Given the description of an element on the screen output the (x, y) to click on. 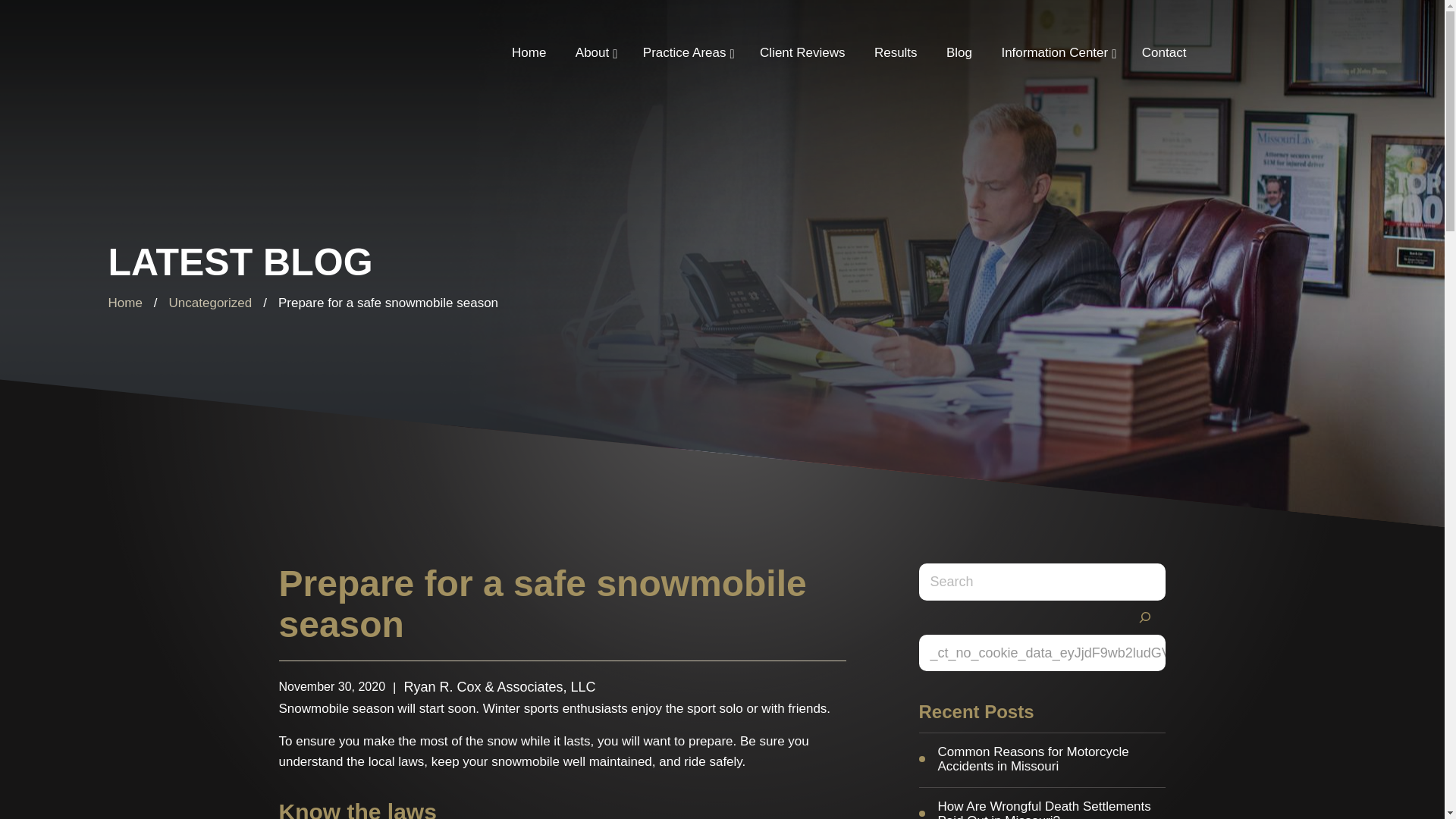
Client Reviews (802, 52)
About (591, 52)
Home (529, 52)
Practice Areas (684, 52)
